Given the description of an element on the screen output the (x, y) to click on. 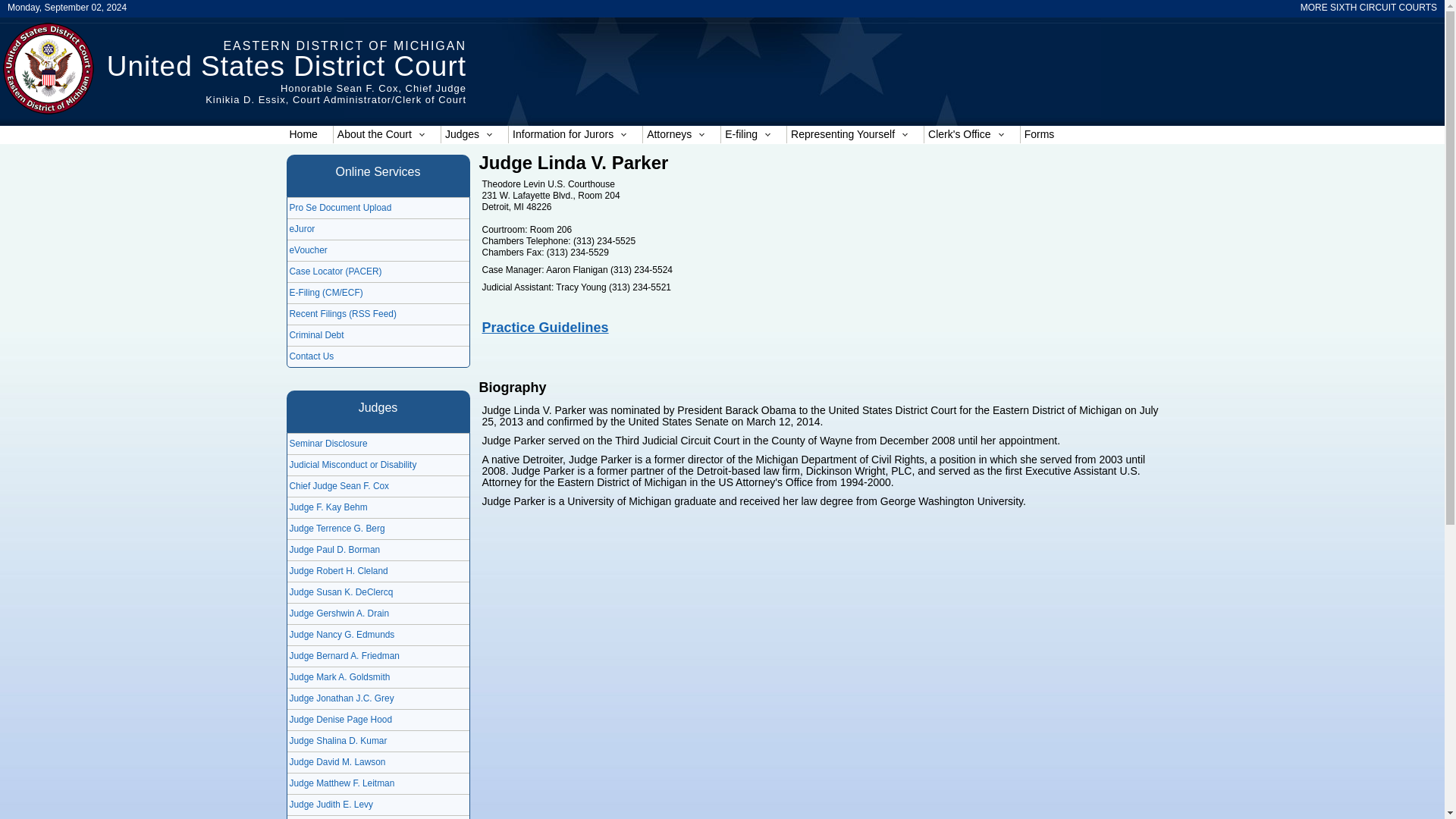
About the CourtSubmenu collapsed. Click to expand submenu. (387, 134)
Home (335, 93)
United States District Court (285, 65)
Home (343, 45)
Home (285, 65)
Home (308, 134)
Click to view (544, 327)
JudgesSubmenu collapsed. Click to expand submenu. (474, 134)
EASTERN DISTRICT OF MICHIGAN (343, 45)
MORE SIXTH CIRCUIT COURTS (1368, 7)
